Given the description of an element on the screen output the (x, y) to click on. 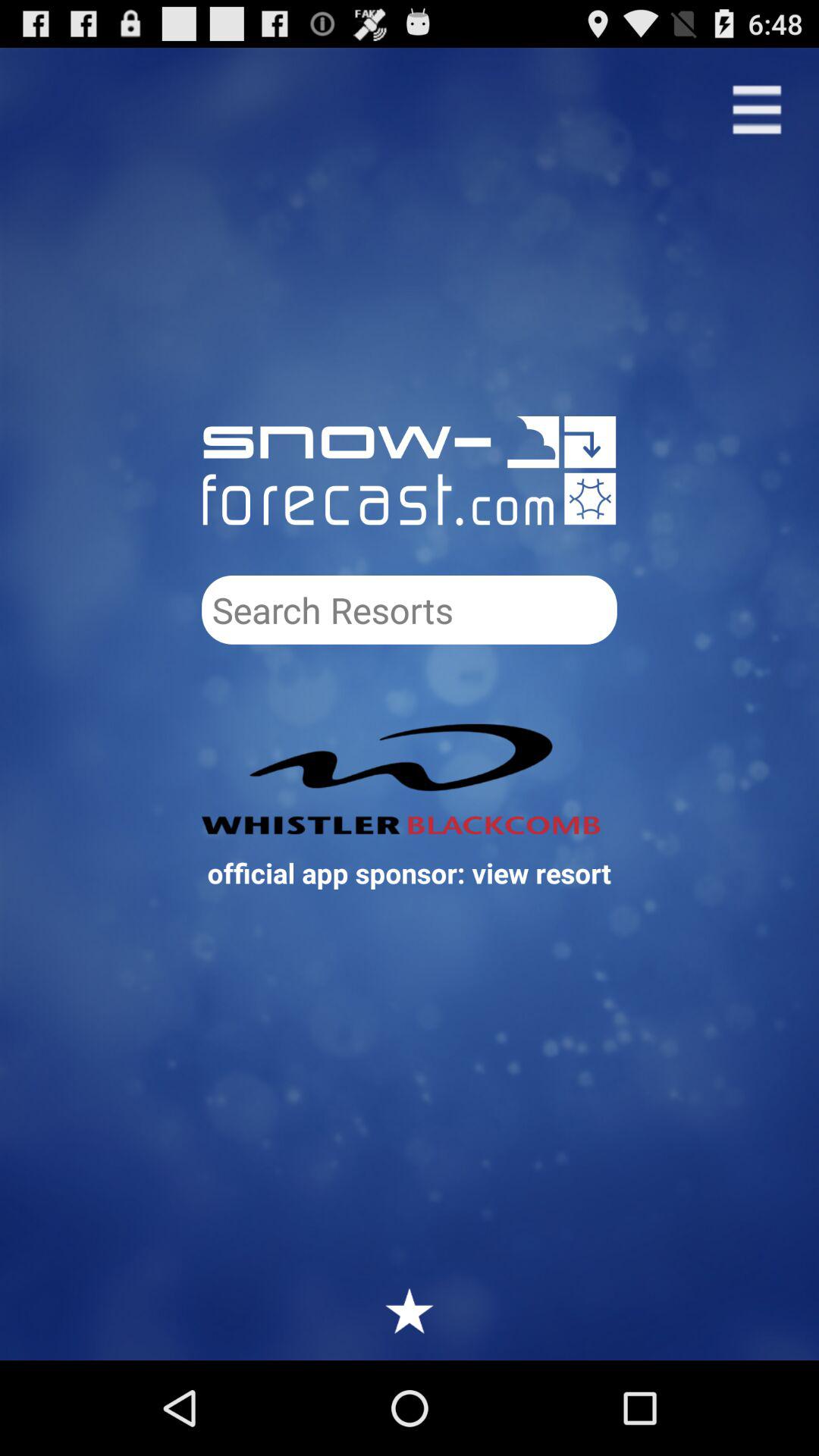
search bar (409, 609)
